Given the description of an element on the screen output the (x, y) to click on. 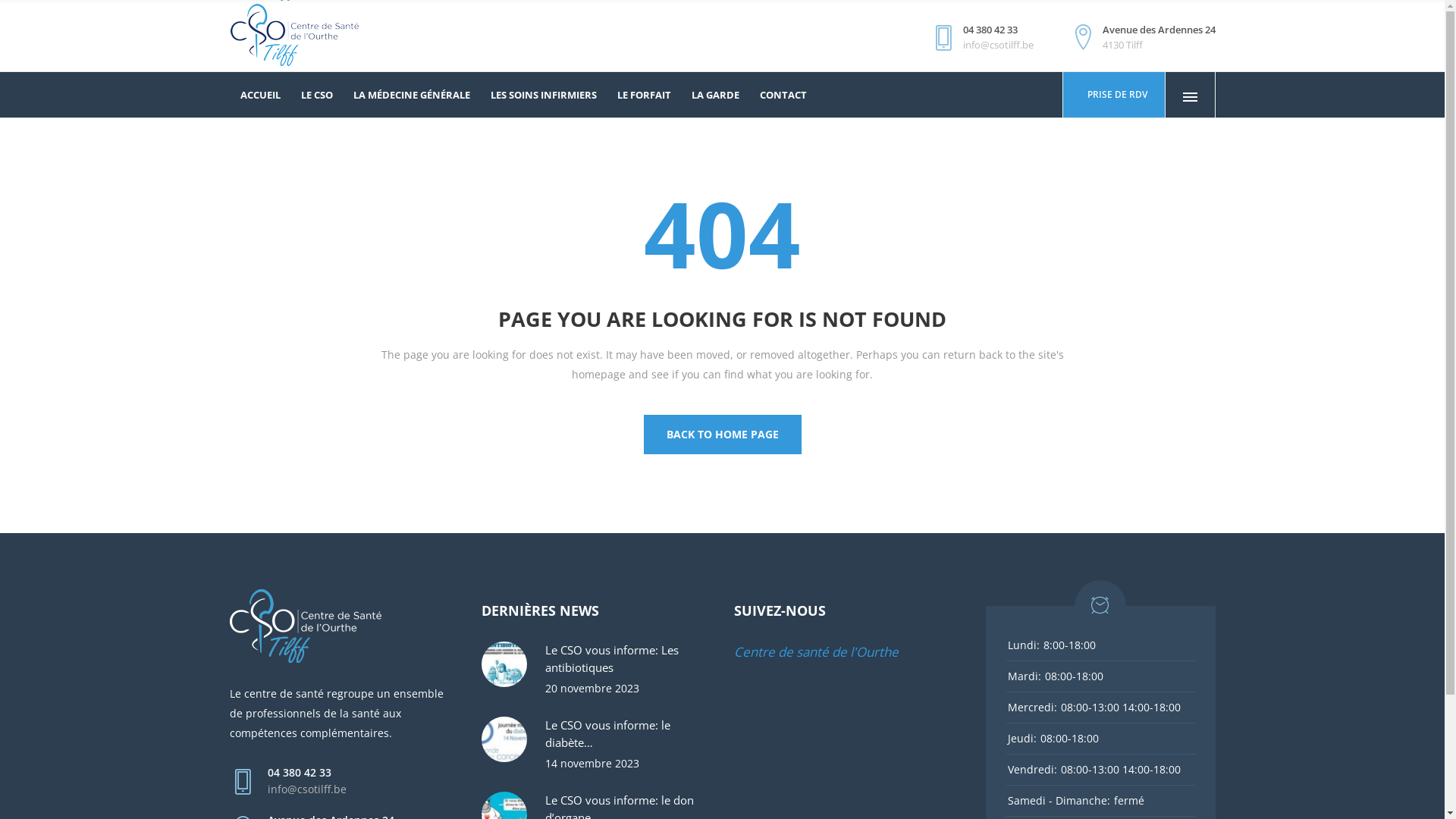
PRISE DE RDV Element type: text (1113, 94)
CONTACT Element type: text (782, 94)
LE FORFAIT Element type: text (643, 94)
LE CSO Element type: text (317, 94)
LA GARDE Element type: text (714, 94)
BACK TO HOME PAGE Element type: text (721, 434)
LES SOINS INFIRMIERS Element type: text (543, 94)
ACCUEIL Element type: text (260, 94)
Le CSO vous informe: Les antibiotiques Element type: text (628, 658)
